Given the description of an element on the screen output the (x, y) to click on. 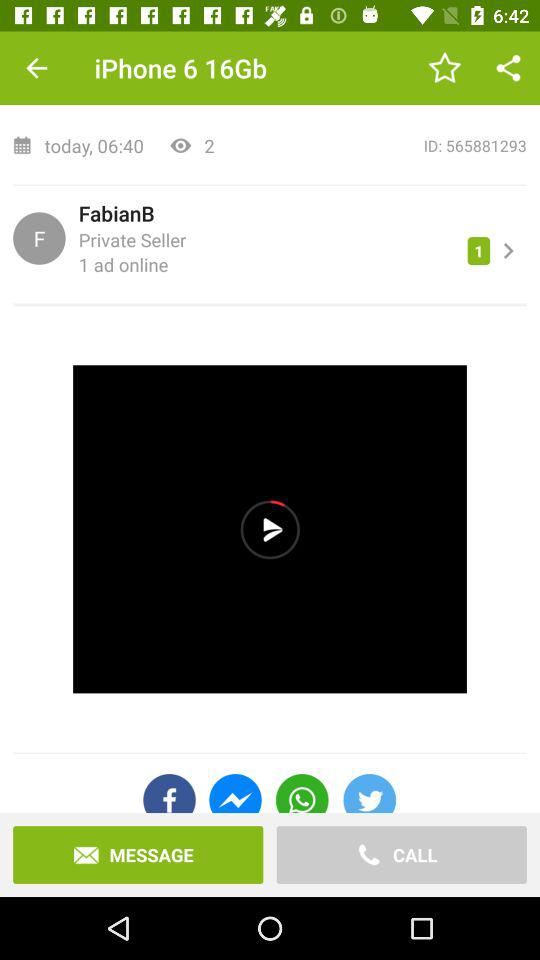
paly button (269, 529)
